Given the description of an element on the screen output the (x, y) to click on. 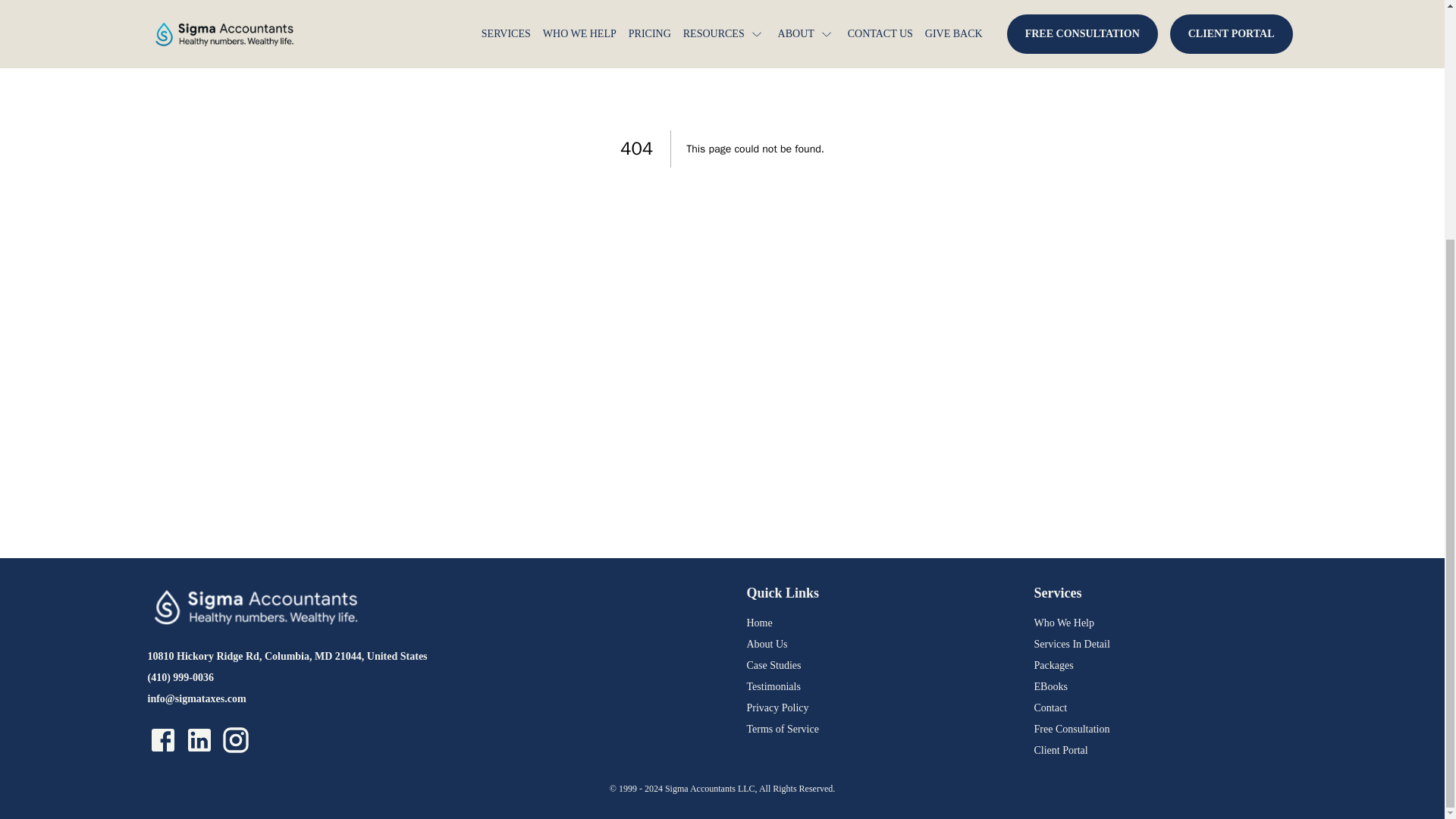
Case Studies (877, 665)
Services In Detail (1165, 644)
Testimonials (877, 686)
Privacy Policy (877, 708)
About Us (877, 644)
EBooks (1165, 686)
Who We Help (1165, 622)
Packages (1165, 665)
Terms of Service (877, 729)
Client Portal (1165, 750)
